Given the description of an element on the screen output the (x, y) to click on. 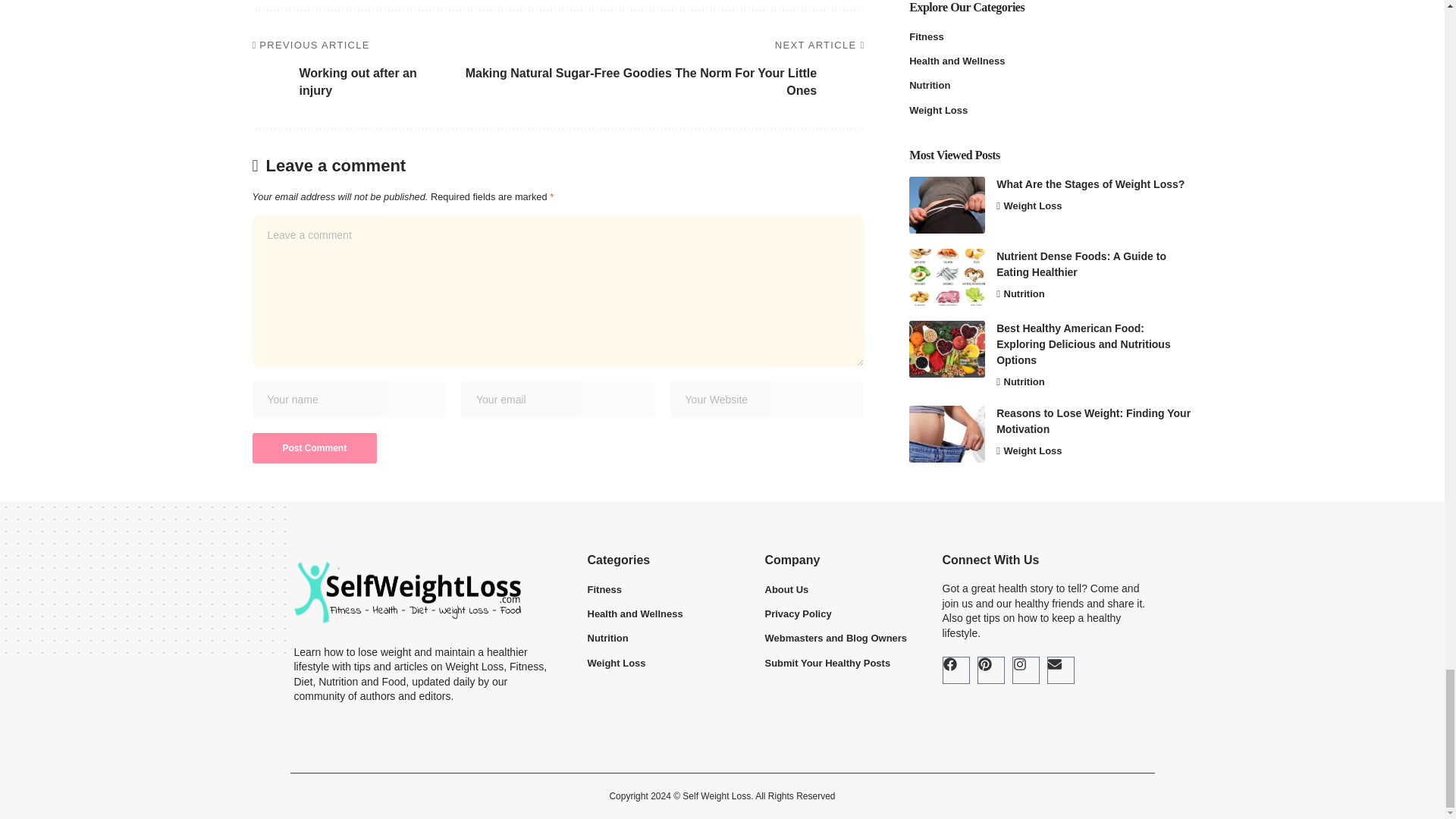
Post Comment (314, 448)
